Given the description of an element on the screen output the (x, y) to click on. 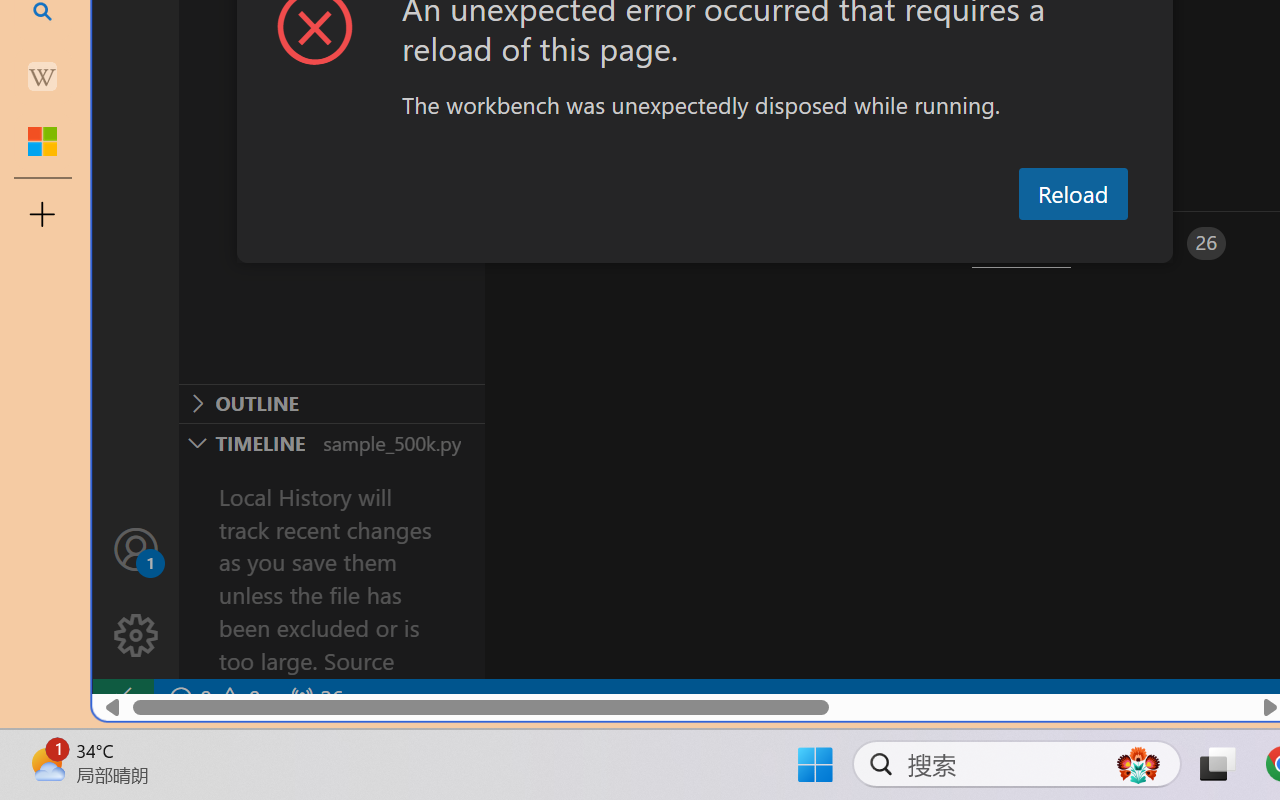
Ports - 26 forwarded ports (1165, 243)
Timeline Section (331, 442)
Terminal (Ctrl+`) (1021, 243)
